Given the description of an element on the screen output the (x, y) to click on. 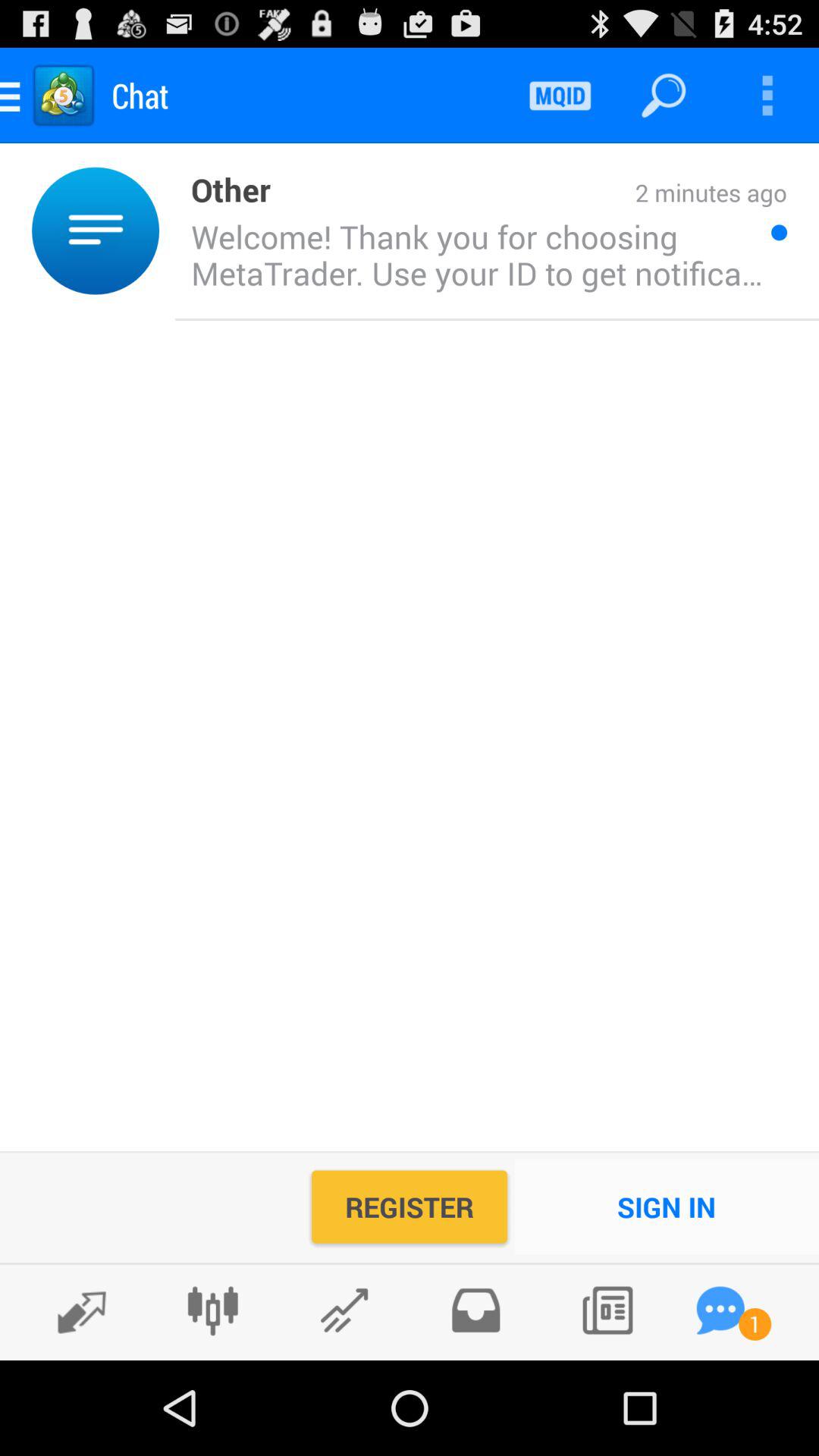
open the icon to the left of other icon (167, 230)
